Given the description of an element on the screen output the (x, y) to click on. 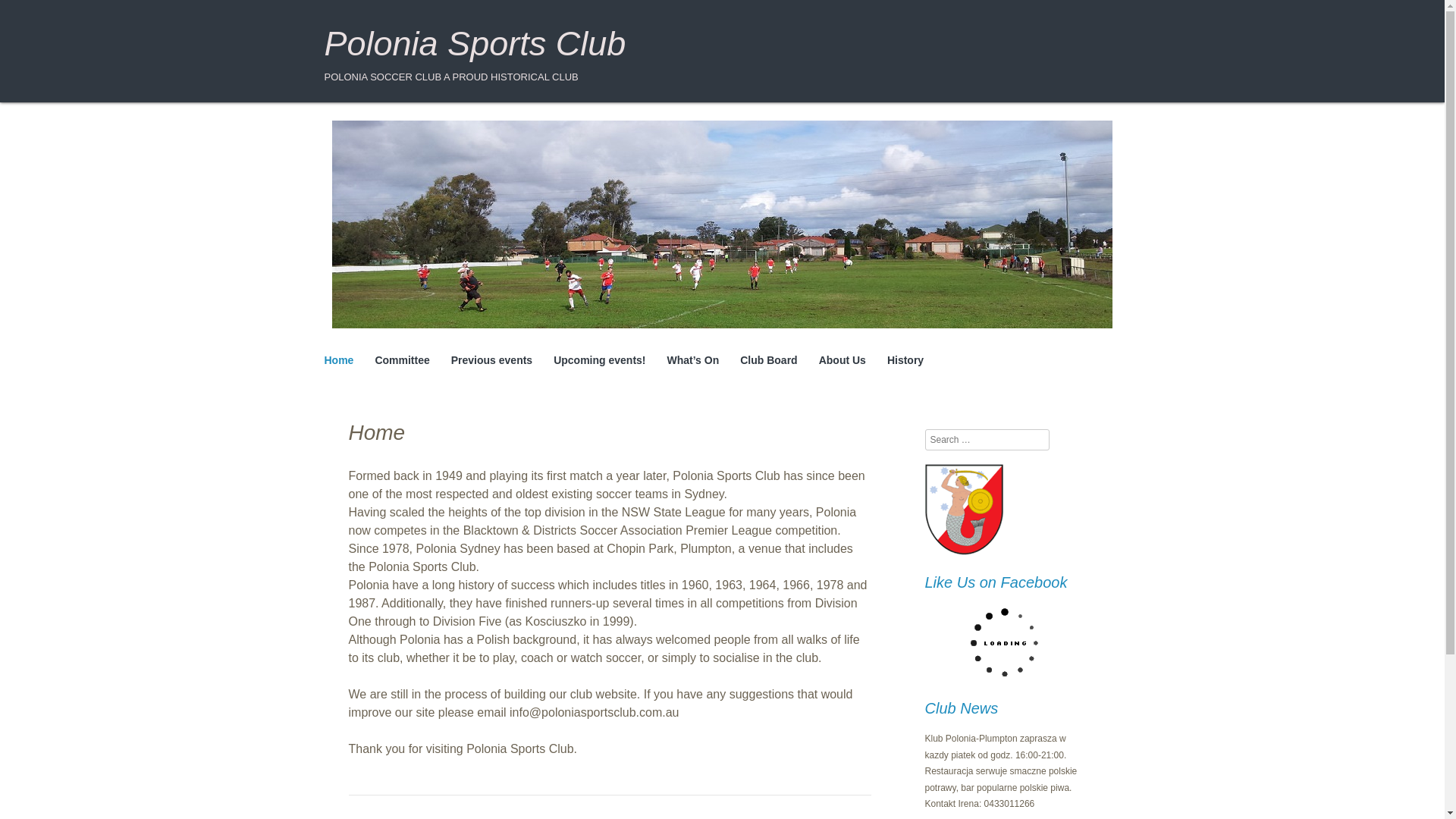
Home (338, 360)
Club Board (767, 360)
Previous events (491, 360)
Polonia Sports Club (475, 43)
Committee (401, 360)
Upcoming events! (599, 360)
About Us (842, 360)
History (904, 360)
Polonia Sports Club (475, 43)
